Given the description of an element on the screen output the (x, y) to click on. 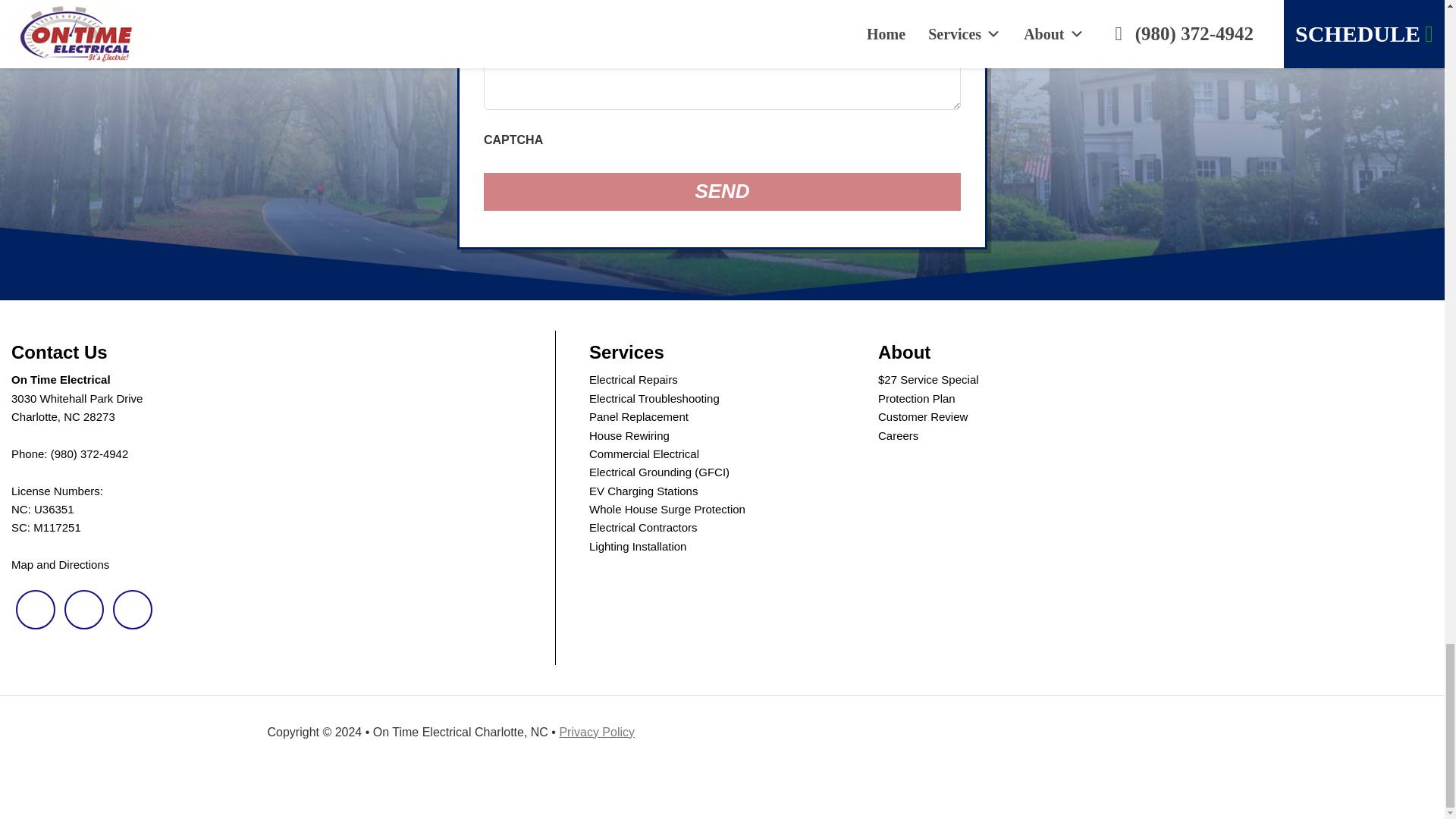
Map and Directions (60, 563)
Send (721, 191)
Send (721, 191)
